Given the description of an element on the screen output the (x, y) to click on. 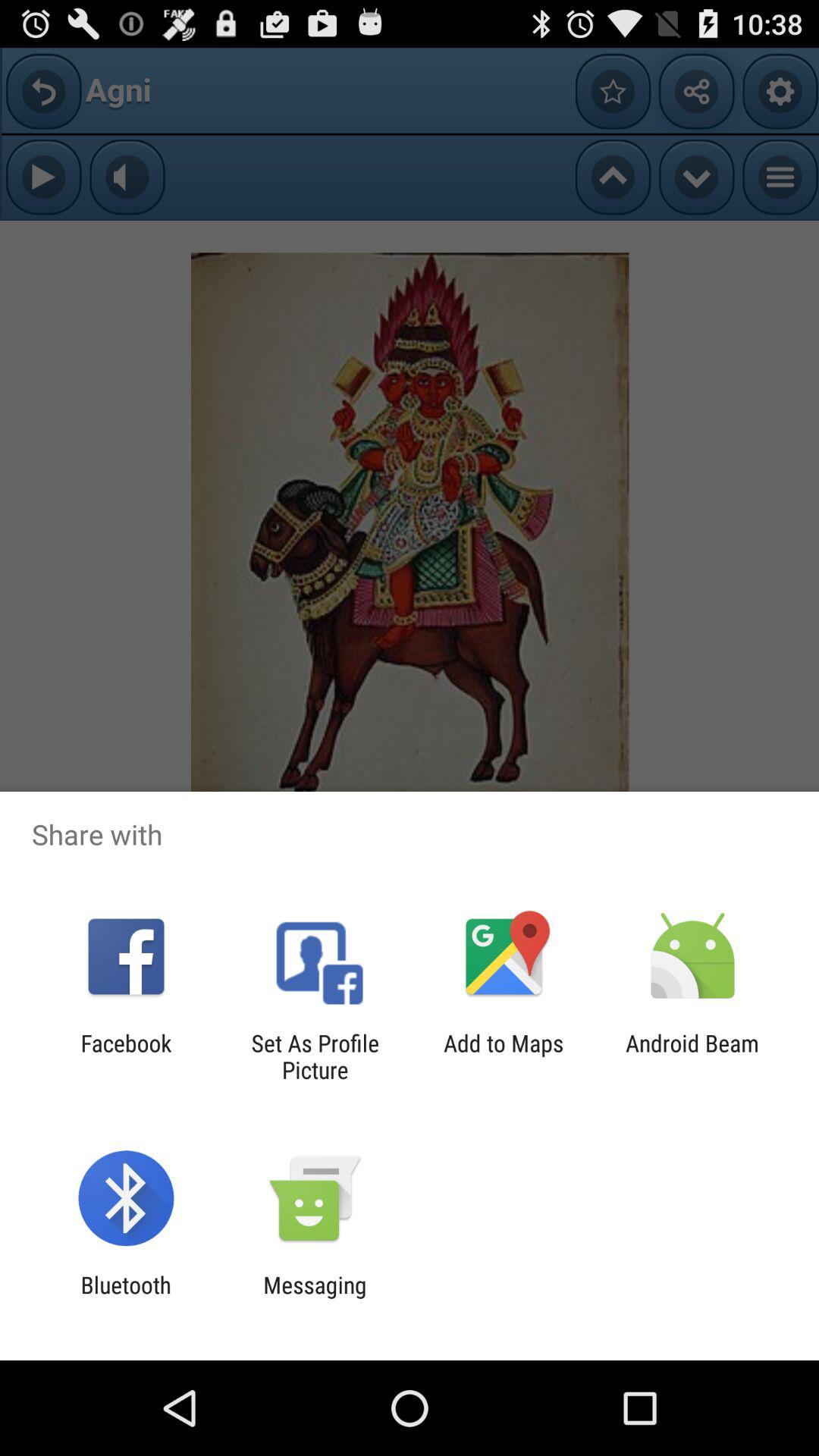
tap icon to the right of the add to maps (692, 1056)
